Given the description of an element on the screen output the (x, y) to click on. 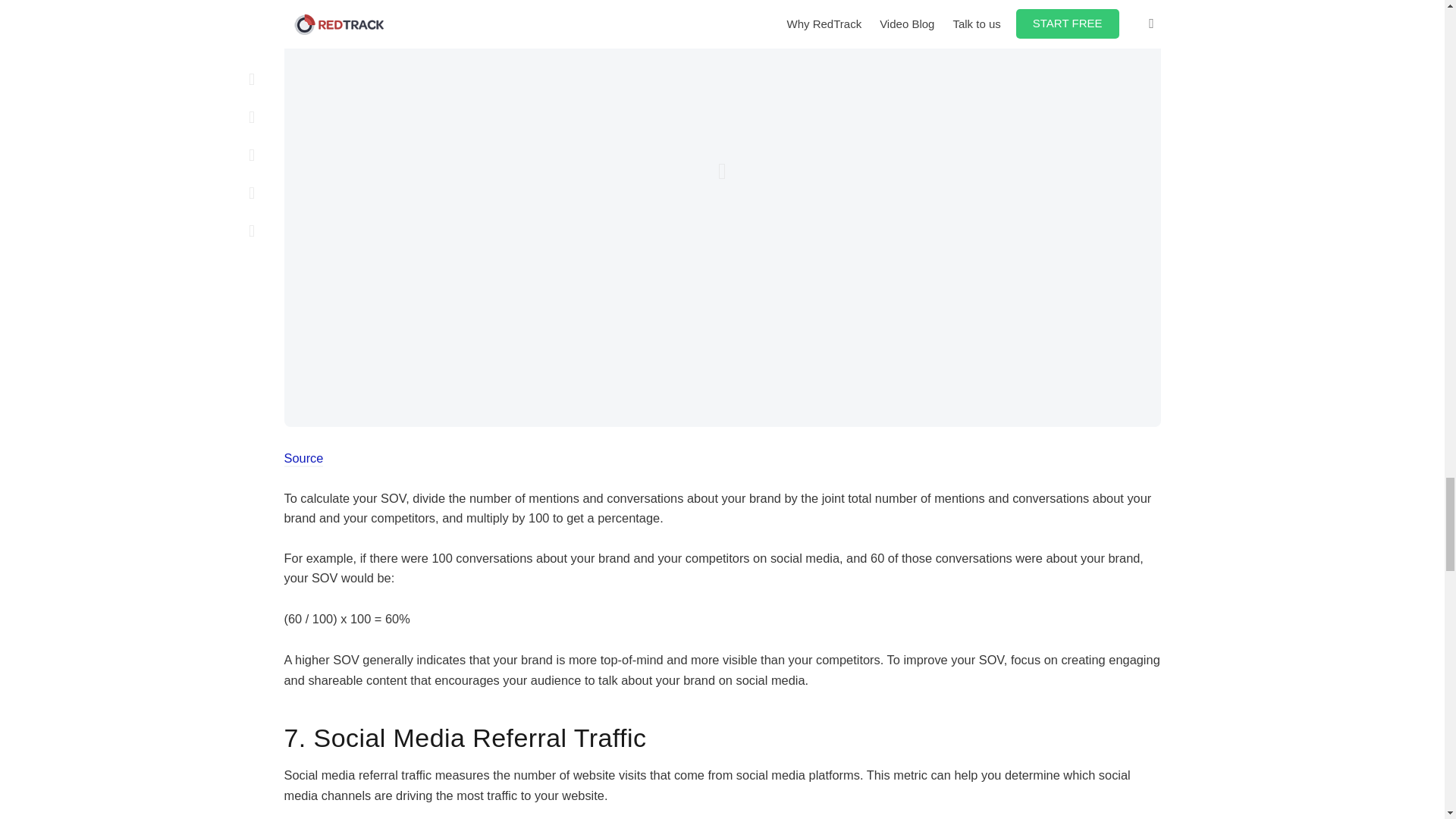
Source (303, 468)
